Given the description of an element on the screen output the (x, y) to click on. 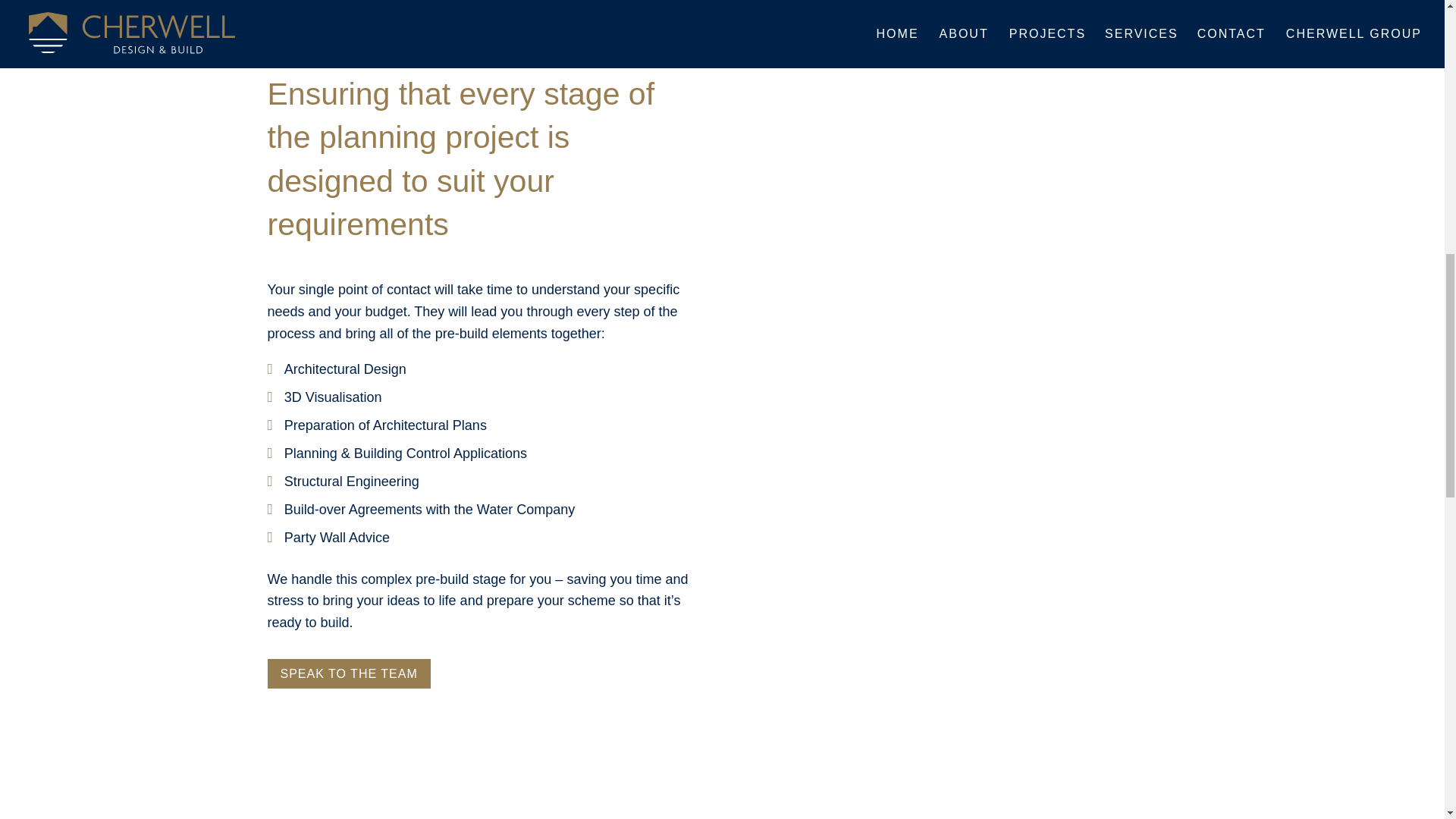
SPEAK TO THE TEAM (347, 673)
